Given the description of an element on the screen output the (x, y) to click on. 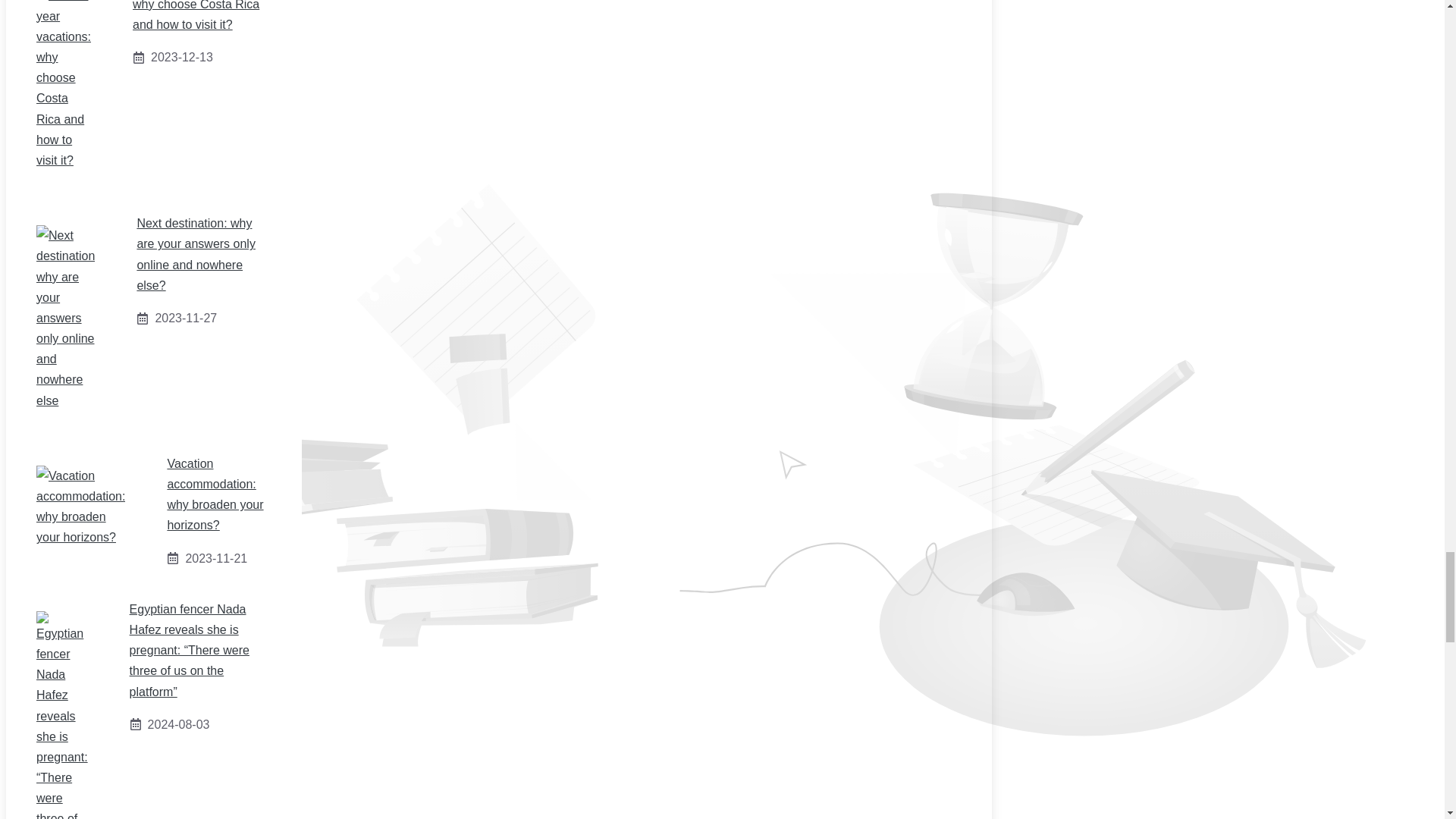
Vacation accommodation: why broaden your horizons? (215, 494)
